Given the description of an element on the screen output the (x, y) to click on. 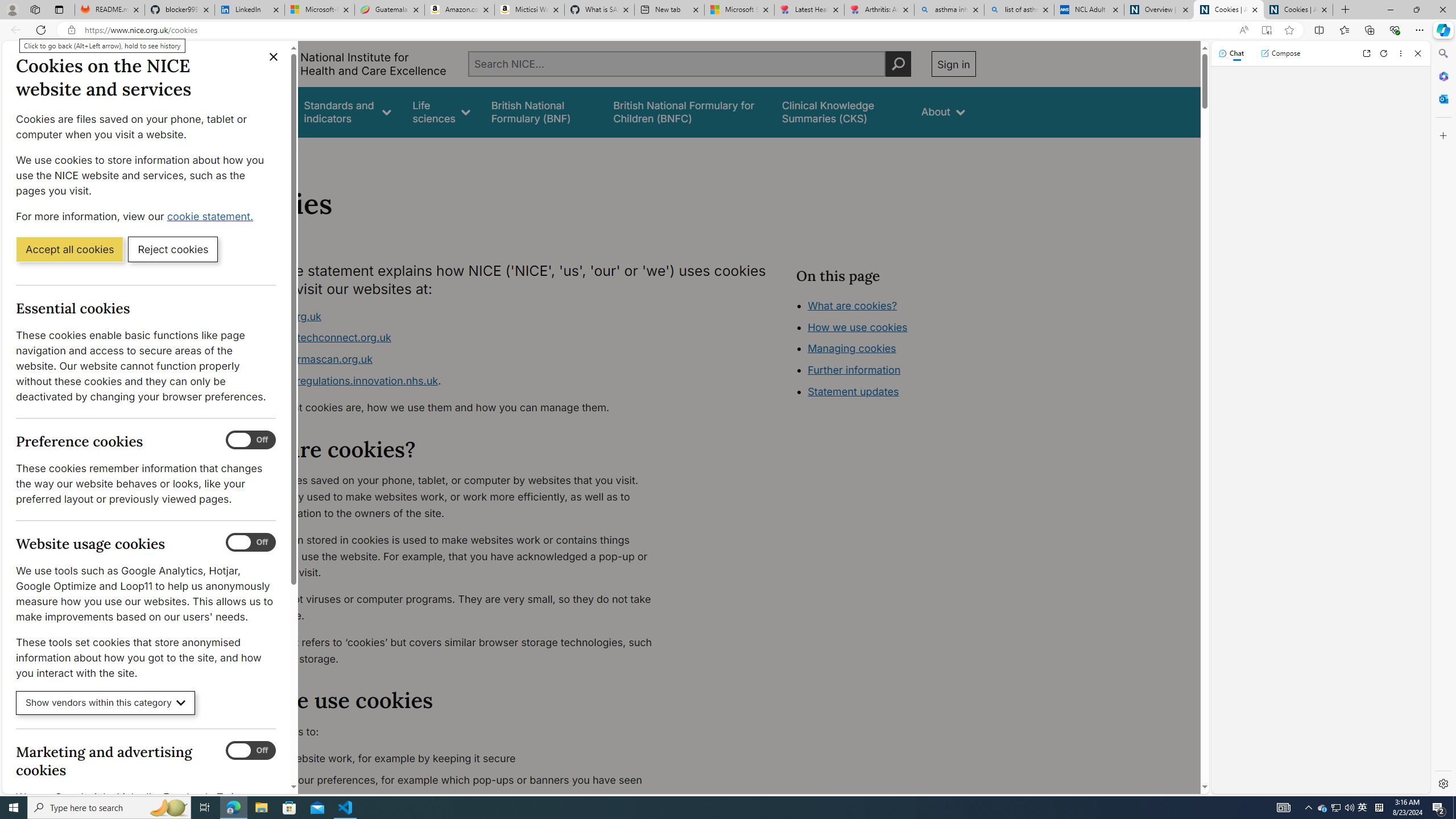
How we use cookies (857, 327)
Website usage cookies (250, 542)
How we use cookies (896, 389)
Reject cookies (173, 248)
